Given the description of an element on the screen output the (x, y) to click on. 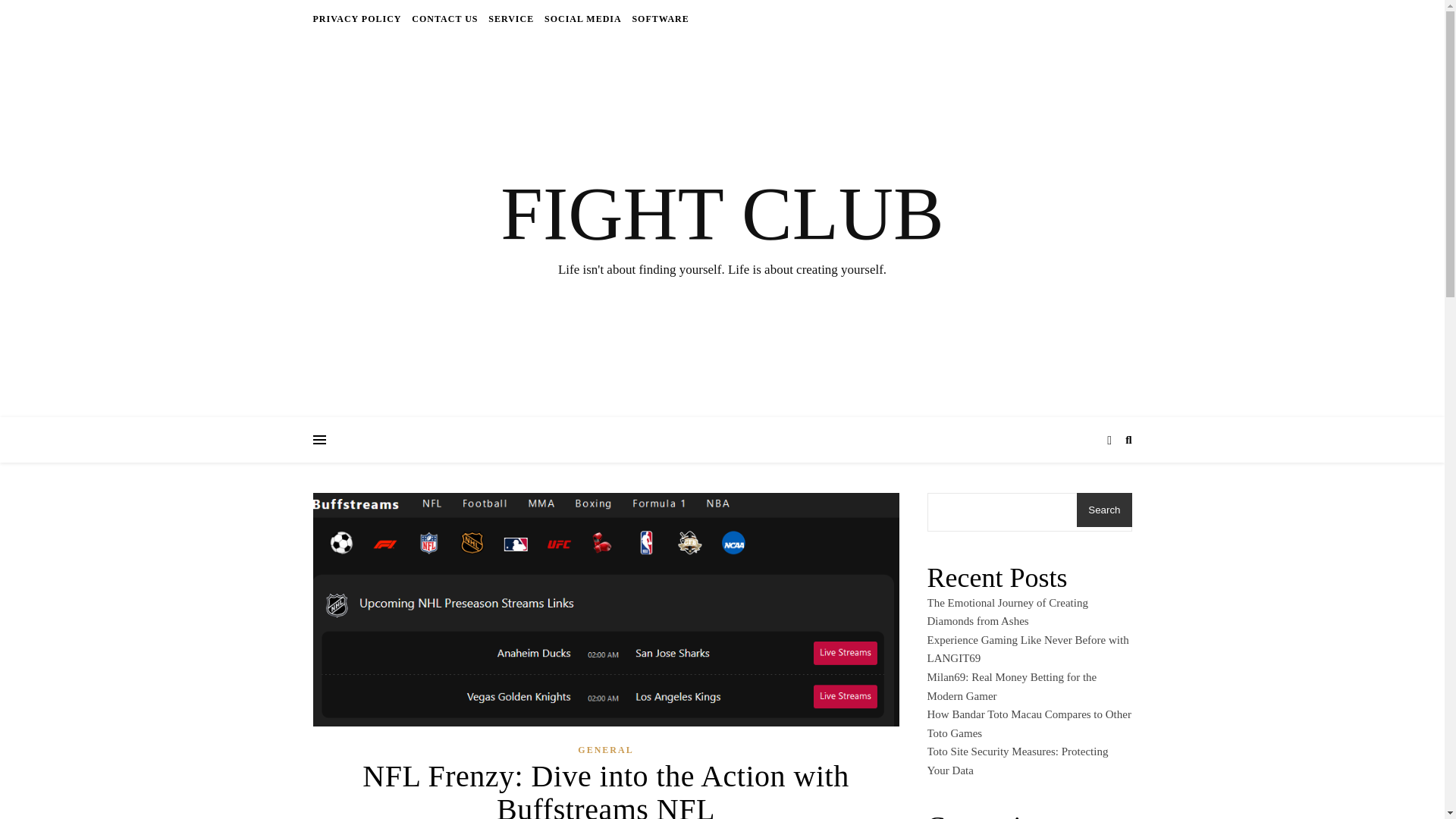
SERVICE (510, 18)
SOCIAL MEDIA (583, 18)
Search (1104, 510)
Milan69: Real Money Betting for the Modern Gamer (1011, 685)
Toto Site Security Measures: Protecting Your Data (1017, 760)
SOFTWARE (657, 18)
How Bandar Toto Macau Compares to Other Toto Games (1028, 723)
The Emotional Journey of Creating Diamonds from Ashes (1006, 612)
GENERAL (605, 750)
CONTACT US (444, 18)
PRIVACY POLICY (358, 18)
Experience Gaming Like Never Before with LANGIT69 (1027, 649)
